Given the description of an element on the screen output the (x, y) to click on. 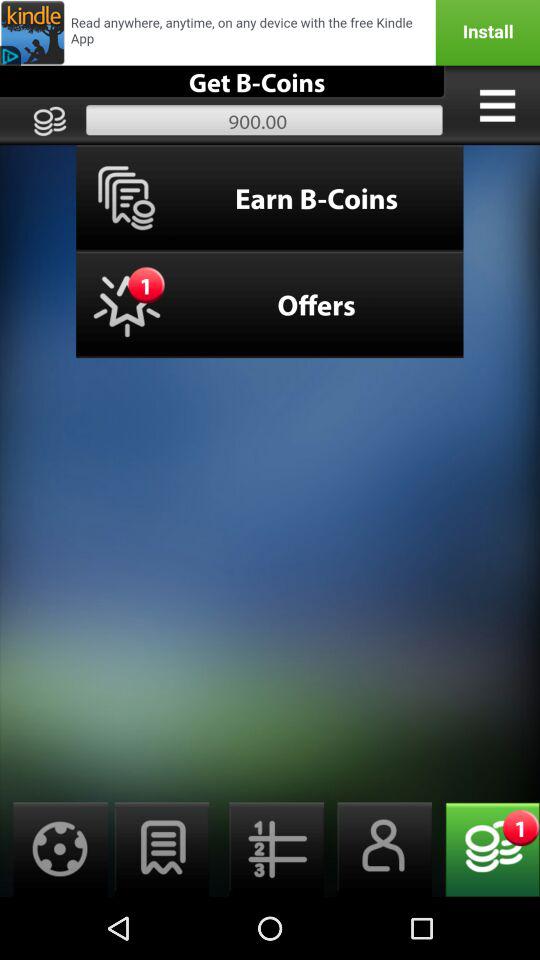
setting button (54, 849)
